Given the description of an element on the screen output the (x, y) to click on. 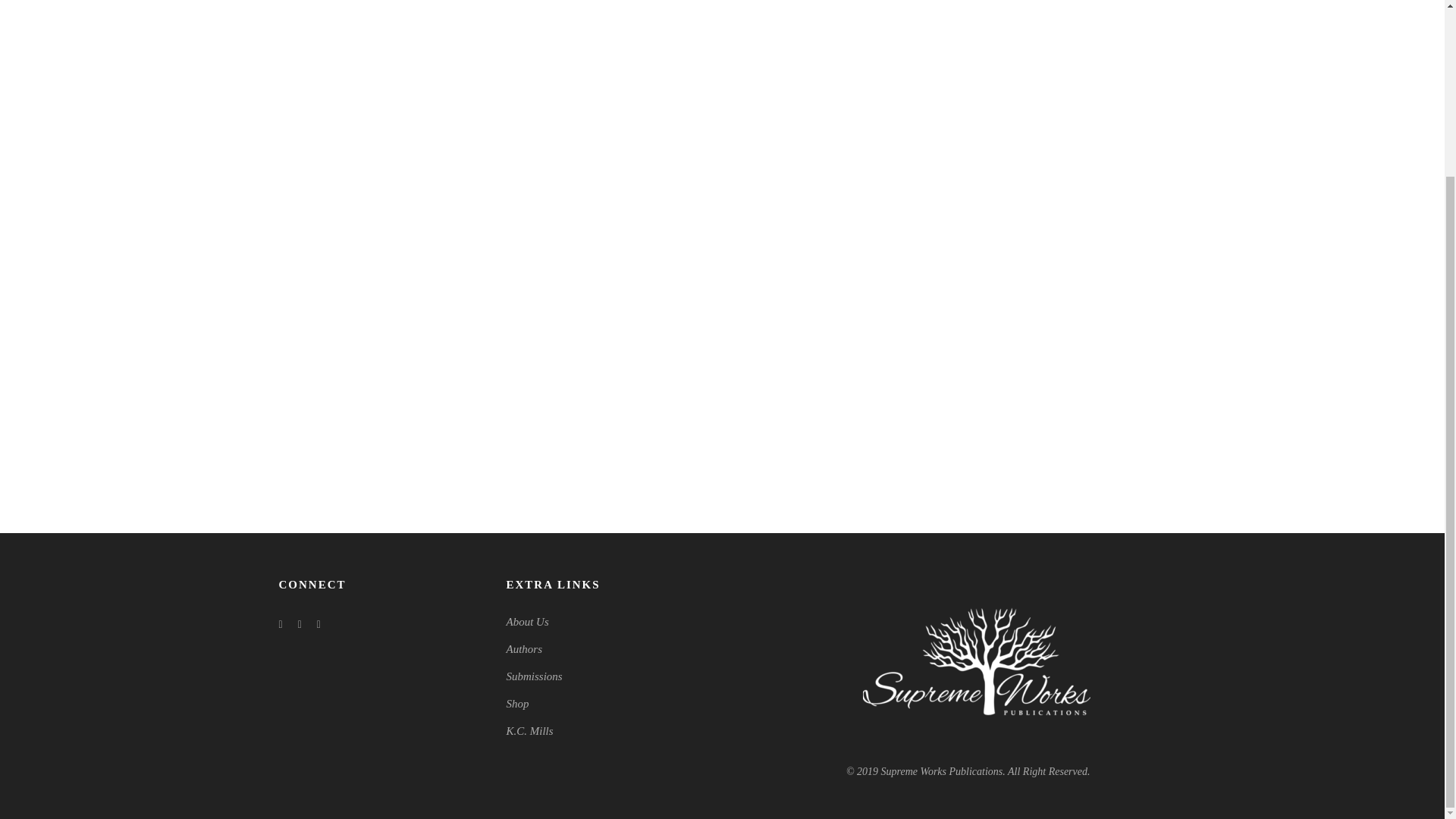
About Us (527, 621)
Authors (524, 648)
Shop (517, 703)
K.C. Mills (529, 730)
Submissions (534, 676)
